Given the description of an element on the screen output the (x, y) to click on. 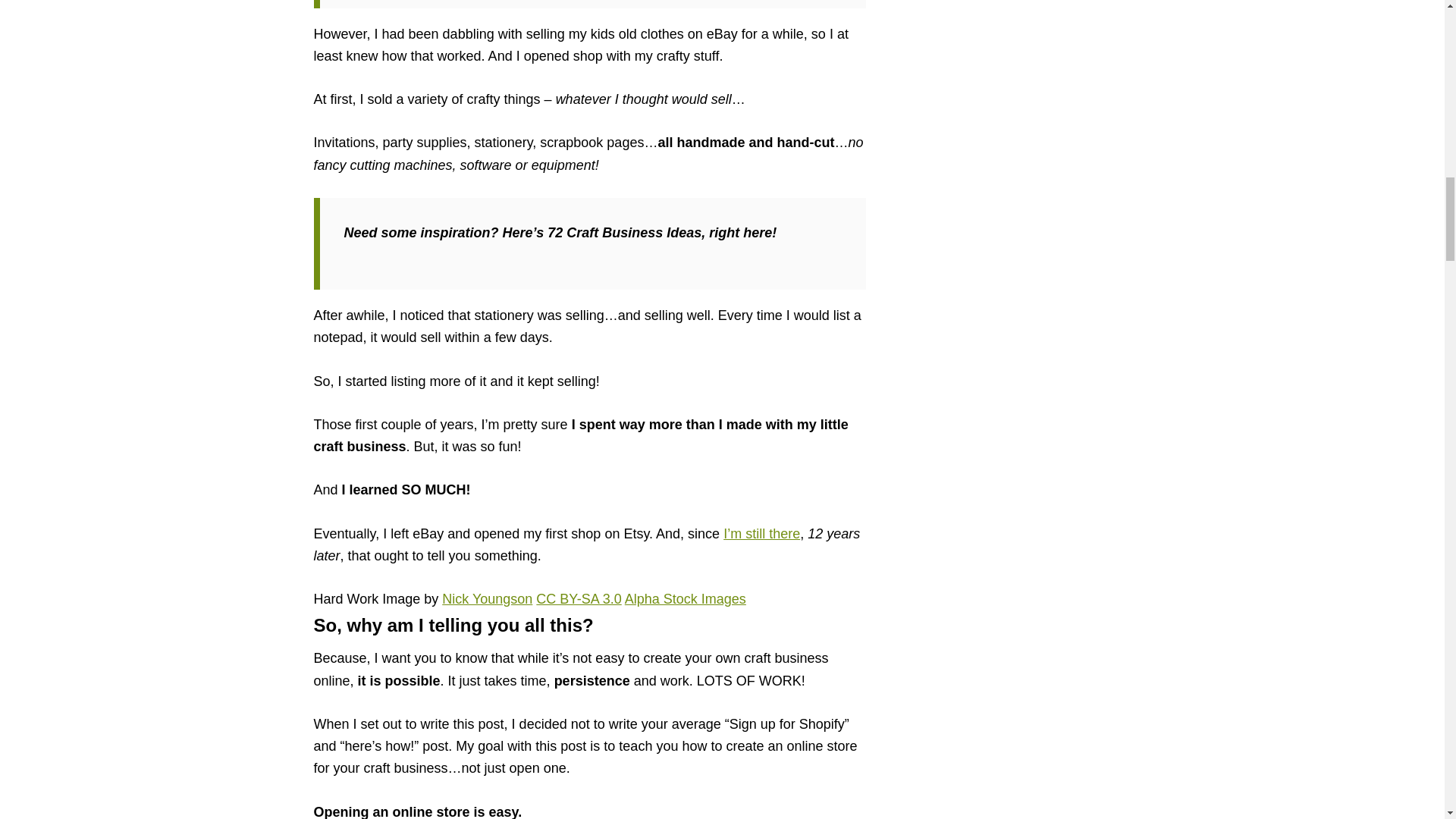
Nick Youngson (487, 598)
Alpha Stock Images (684, 598)
CC BY-SA 3.0 (578, 598)
